Given the description of an element on the screen output the (x, y) to click on. 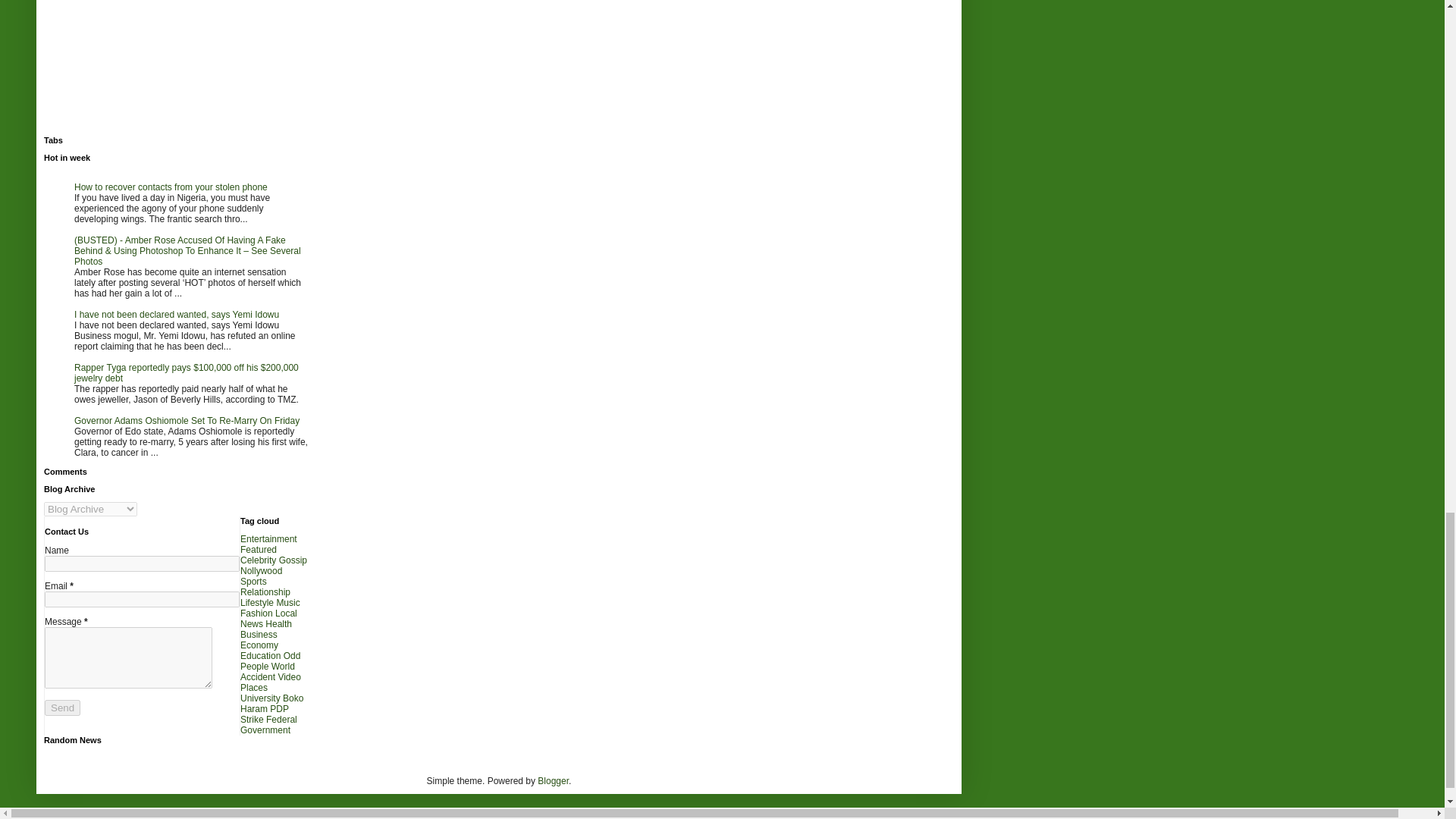
How to recover contacts from your stolen phone (170, 186)
Send (62, 707)
Entertainment (268, 538)
Advertisement (175, 67)
Governor Adams Oshiomole Set To Re-Marry On Friday (186, 420)
Lifestyle (256, 602)
I have not been declared wanted, says Yemi Idowu (176, 314)
Featured (258, 549)
Nollywood (261, 570)
Sports (253, 581)
Celebrity Gossip (273, 560)
Relationship (264, 592)
